Given the description of an element on the screen output the (x, y) to click on. 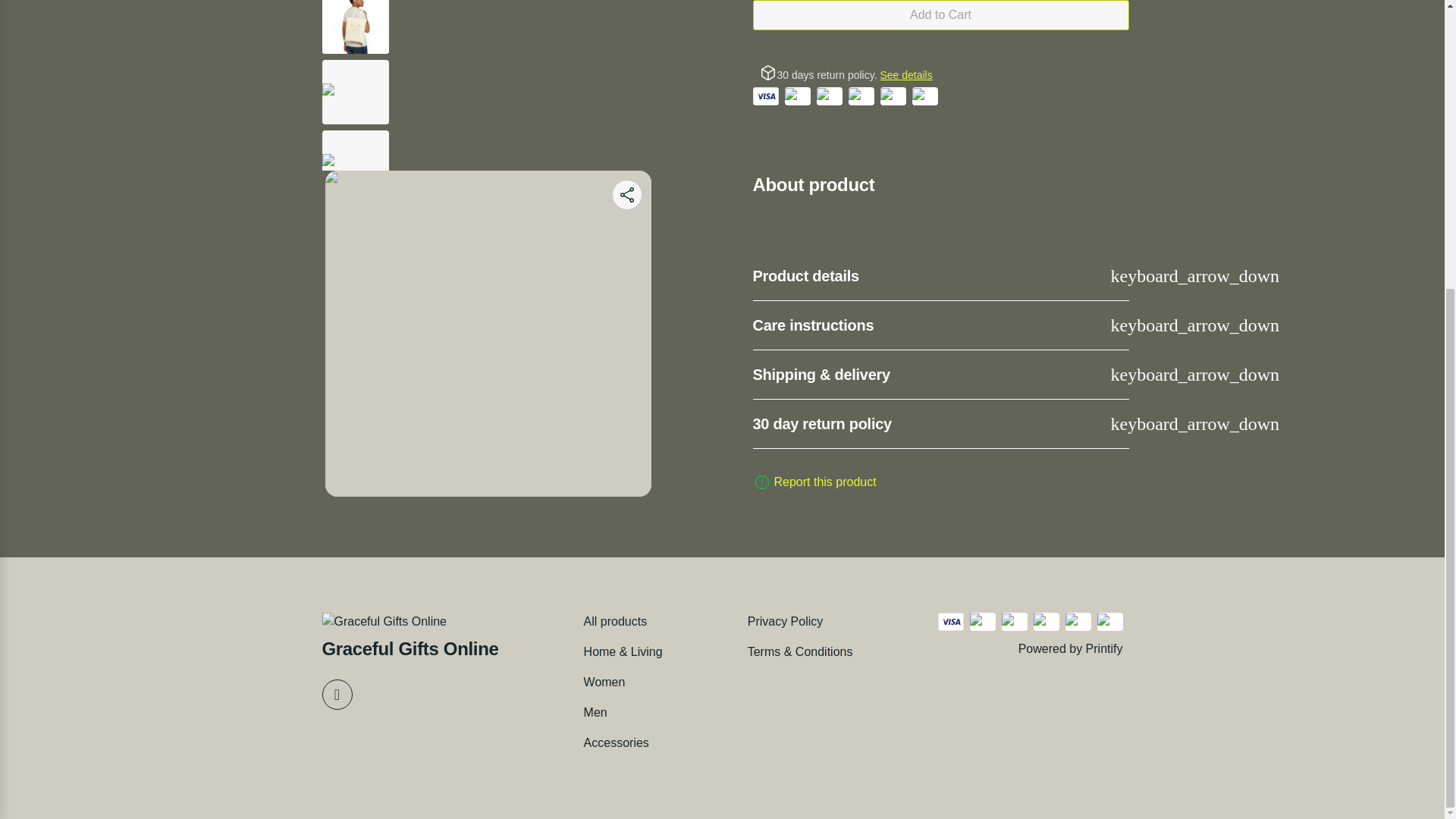
See details (905, 74)
Product details (940, 276)
Add to Cart (940, 15)
30 day return policy (940, 423)
About product (940, 196)
Cotton Canvas Tote Bag - tlw-2 product main image (487, 151)
Graceful Gifts Online (409, 636)
Report this product (824, 481)
Care instructions (940, 325)
All products (615, 621)
